Given the description of an element on the screen output the (x, y) to click on. 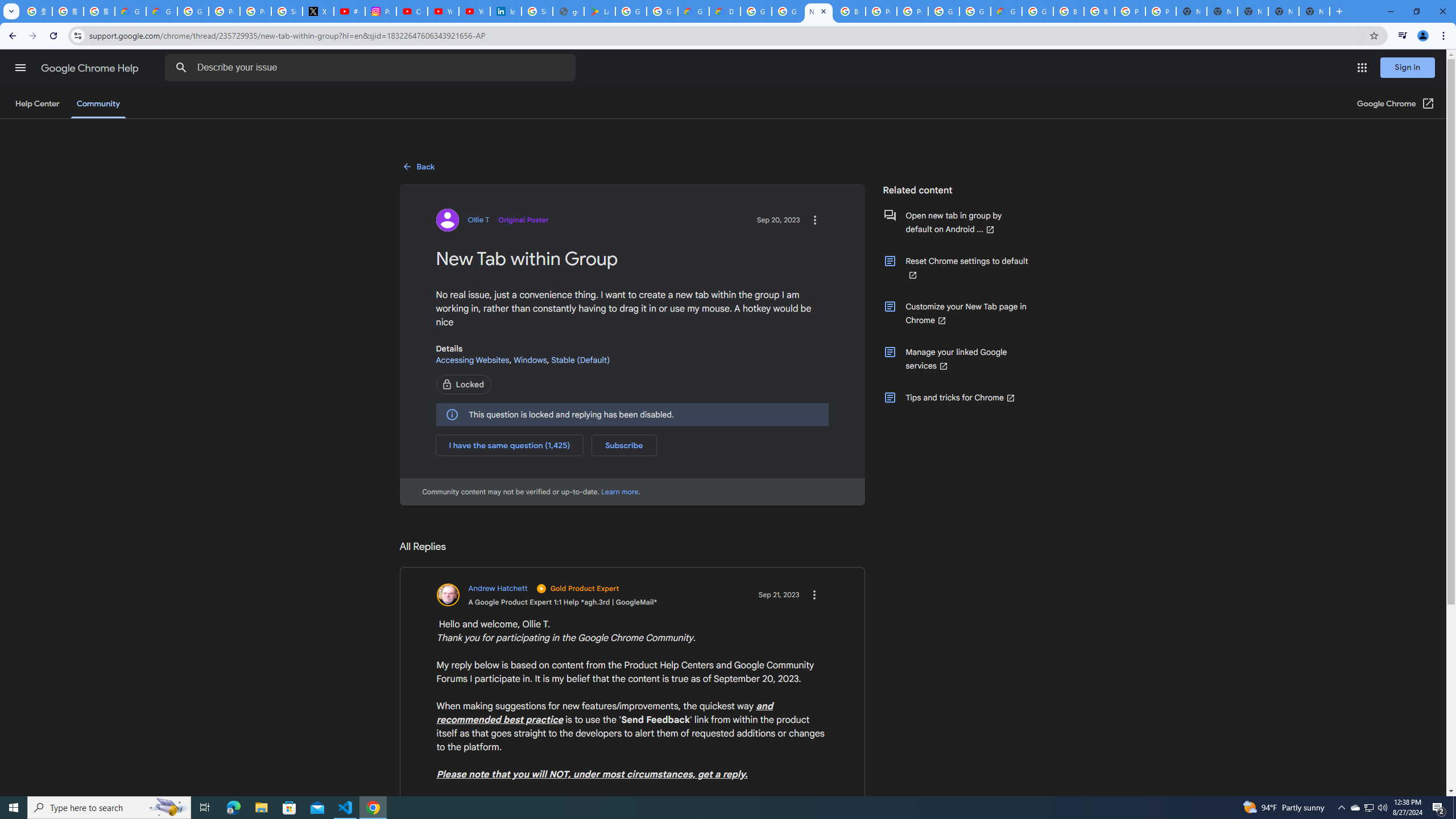
Action items for the question (814, 219)
Sign in - Google Accounts (536, 11)
Google Cloud Platform (943, 11)
google_privacy_policy_en.pdf (568, 11)
Reset Chrome settings to default (Opens in a new window) (955, 267)
Google Cloud Privacy Notice (161, 11)
Accessing Websites (472, 359)
YouTube Culture & Trends - YouTube Top 10, 2021 (474, 11)
#nbabasketballhighlights - YouTube (349, 11)
Tips and tricks for Chrome (Opens in a new window) (955, 397)
